Given the description of an element on the screen output the (x, y) to click on. 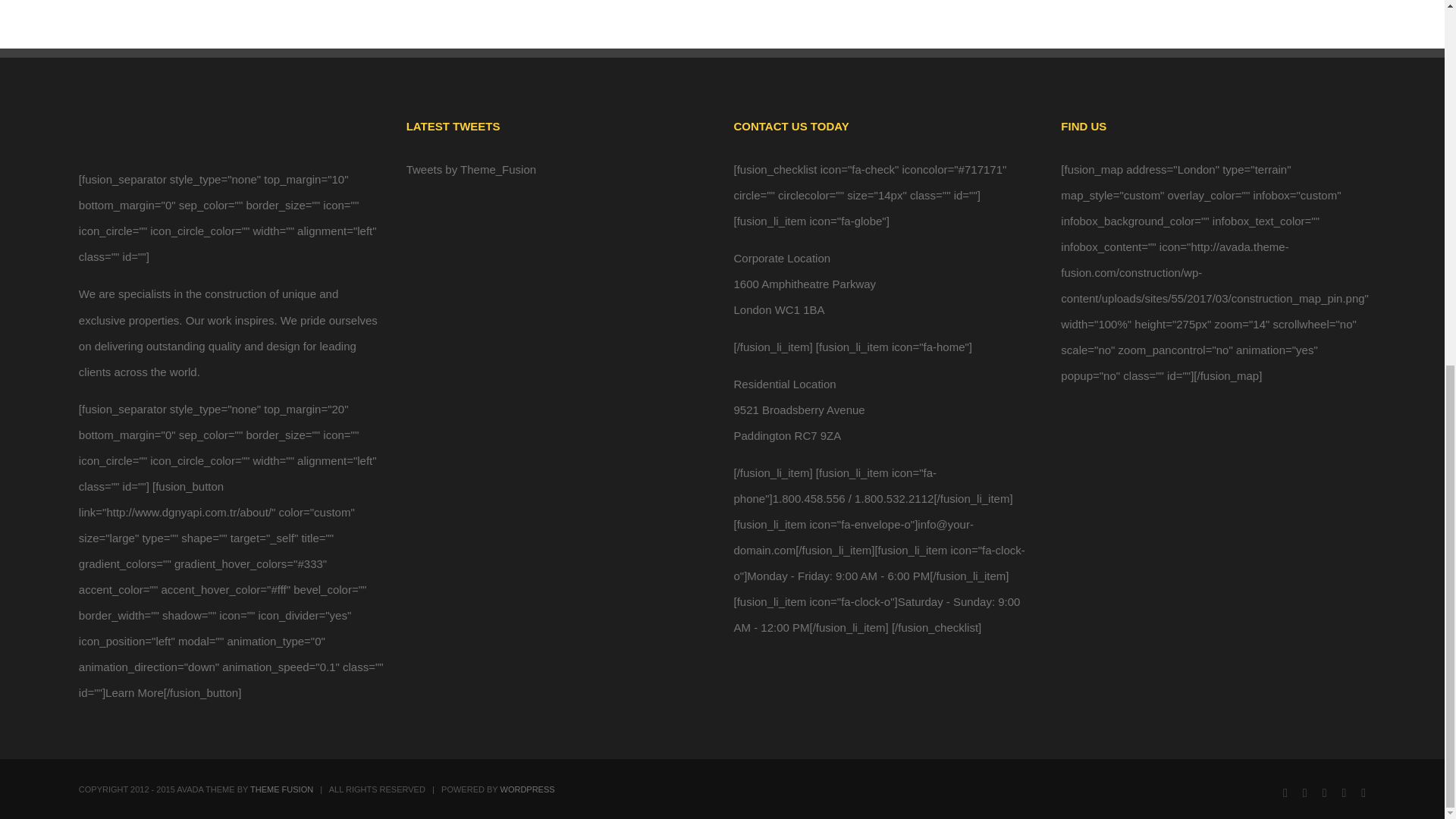
WORDPRESS (527, 788)
THEME FUSION (281, 788)
